Given the description of an element on the screen output the (x, y) to click on. 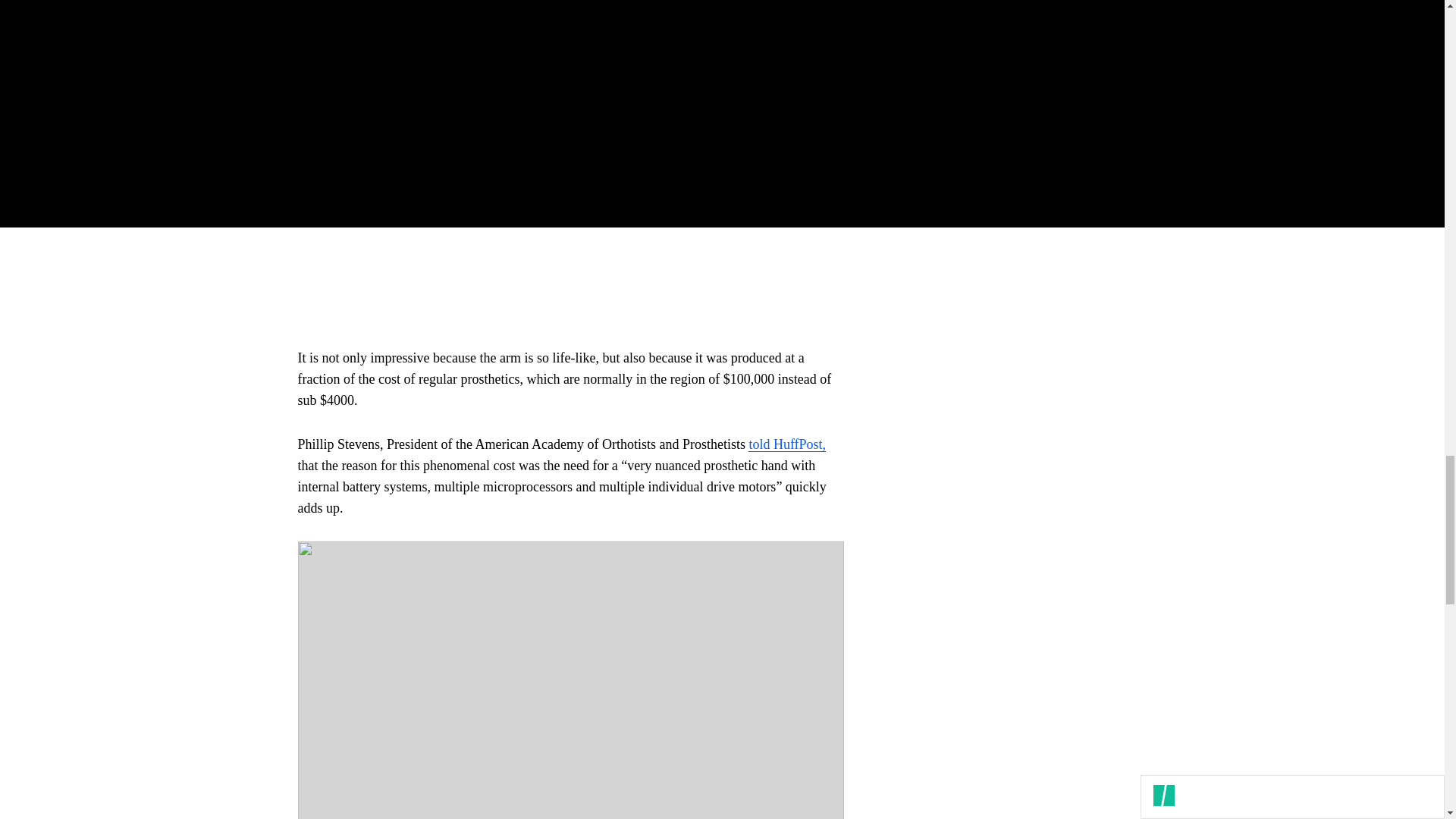
SIGN UP (1098, 124)
